Given the description of an element on the screen output the (x, y) to click on. 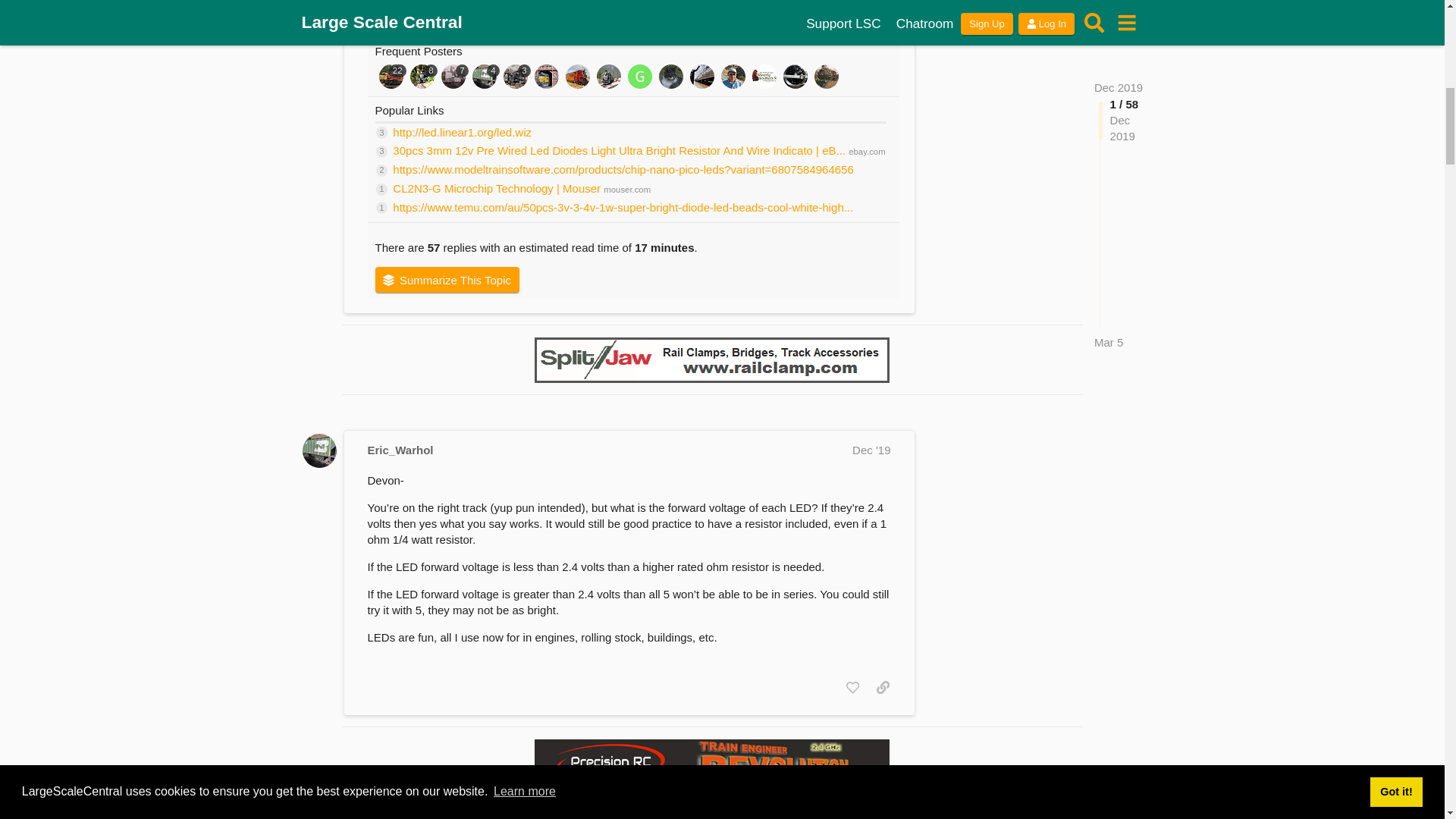
Devon Sinsley (382, 22)
Dec 31, 2019 12:43 am (411, 22)
Cliff Jennings (453, 22)
collapse topic details (873, 18)
17213 (571, 8)
Mar 5, 2024 10:39 am (478, 22)
last reply (469, 5)
